Given the description of an element on the screen output the (x, y) to click on. 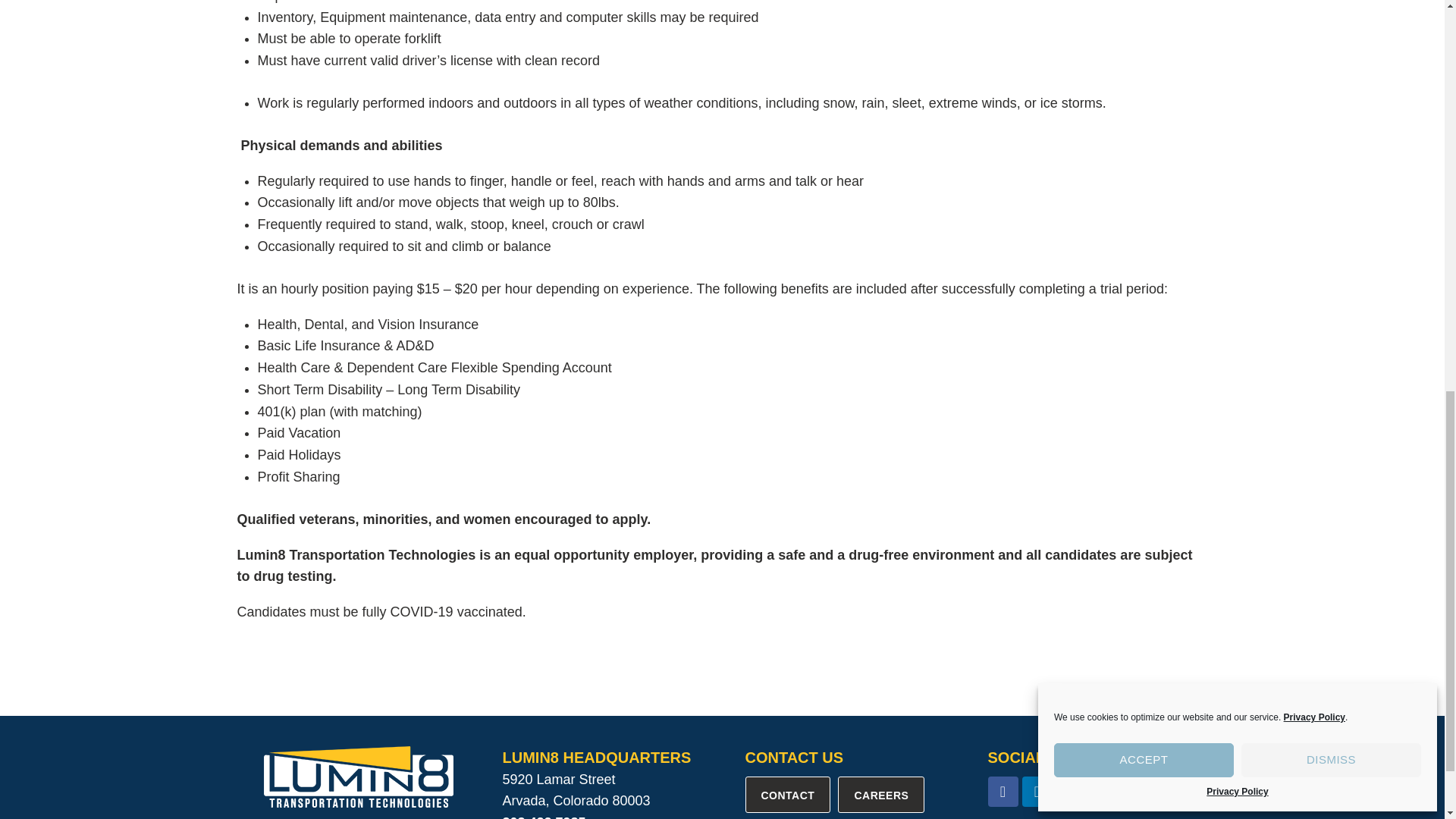
303.422.7985 (543, 816)
CONTACT (786, 794)
CAREERS (881, 794)
